Given the description of an element on the screen output the (x, y) to click on. 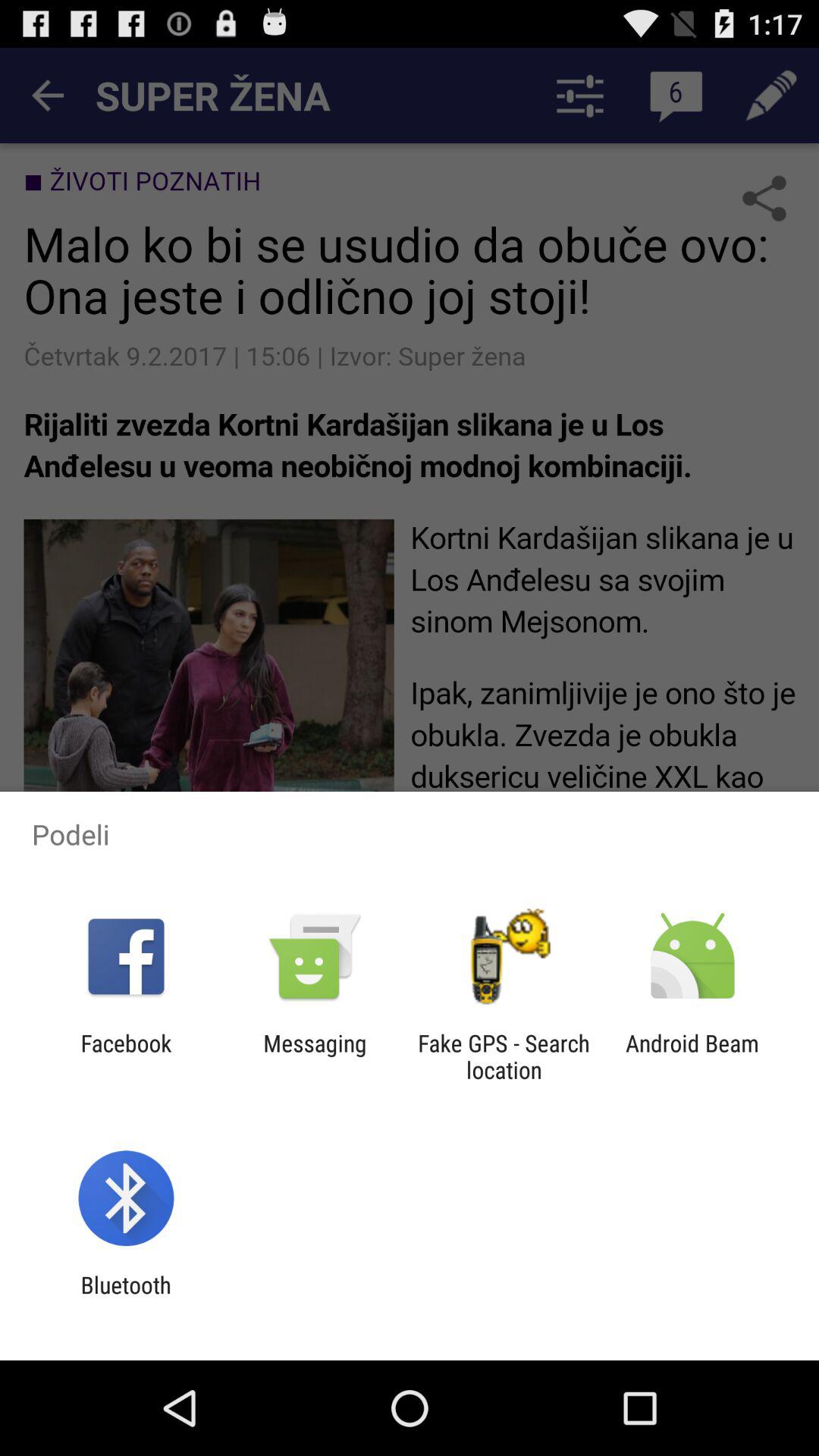
launch icon next to the facebook app (314, 1056)
